Given the description of an element on the screen output the (x, y) to click on. 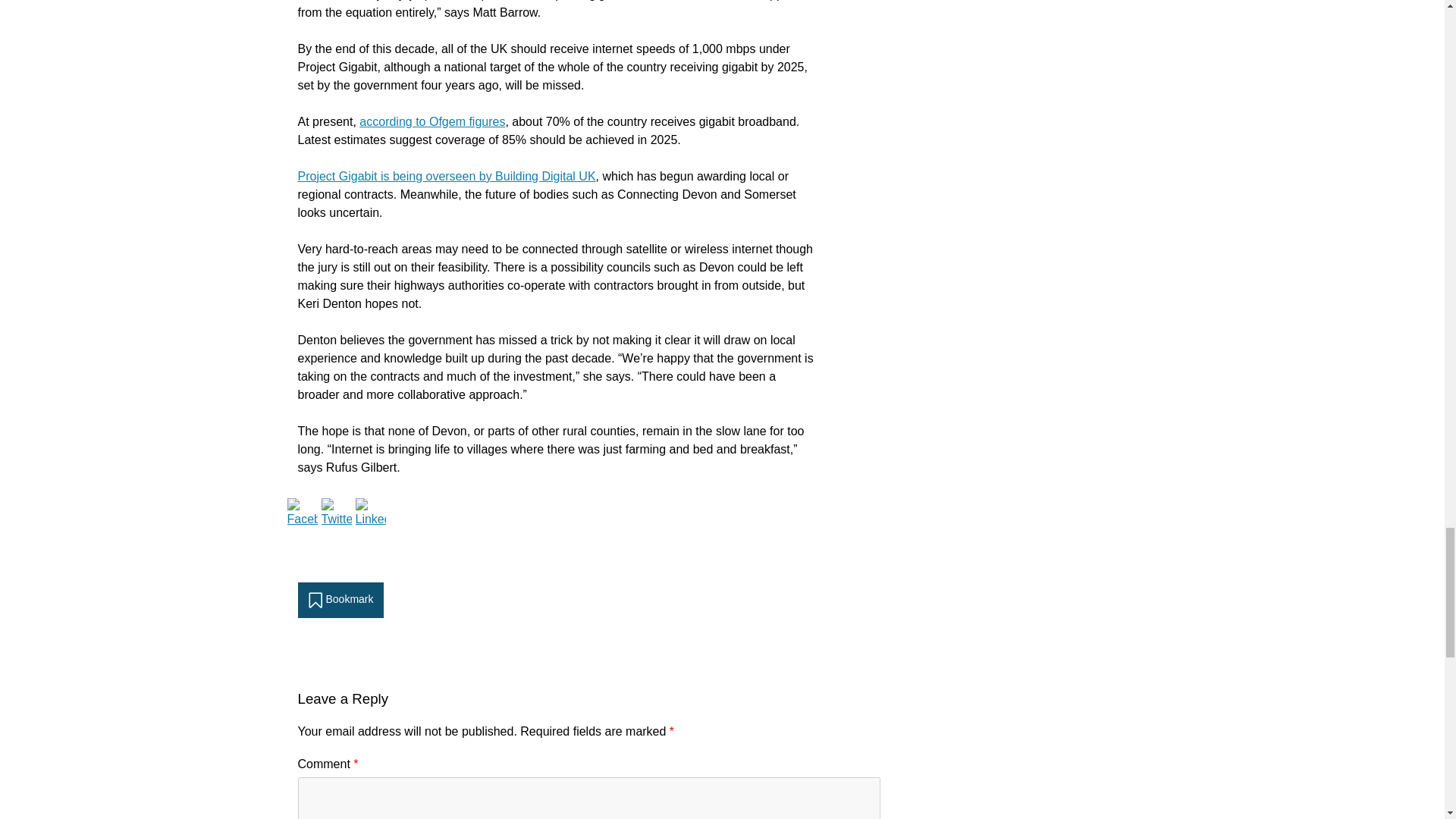
Facebook (301, 512)
LinkedIn (370, 512)
Bookmark This (339, 599)
Twitter (336, 512)
